Given the description of an element on the screen output the (x, y) to click on. 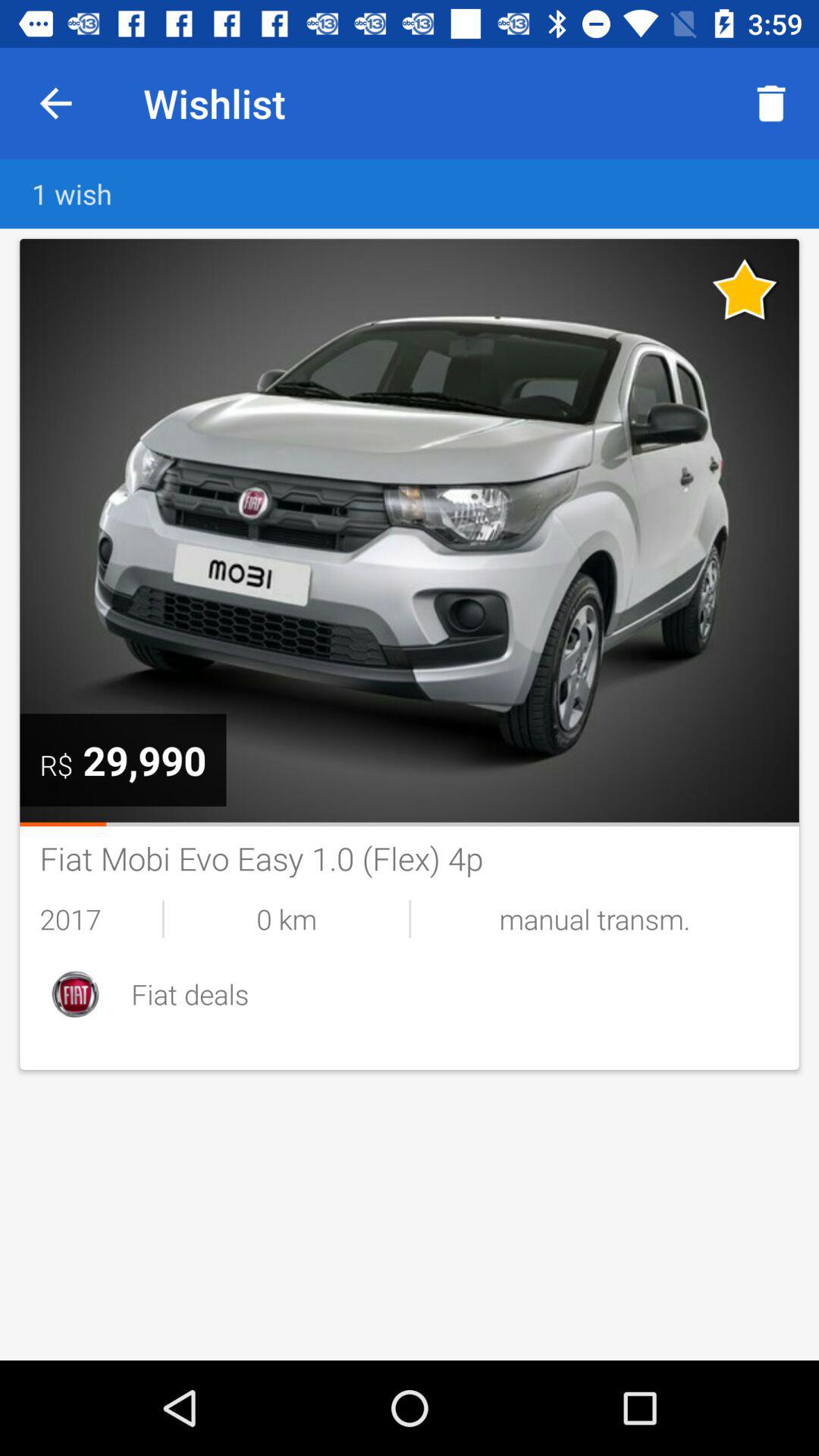
select the icon to the left of 29,990 (55, 764)
